Given the description of an element on the screen output the (x, y) to click on. 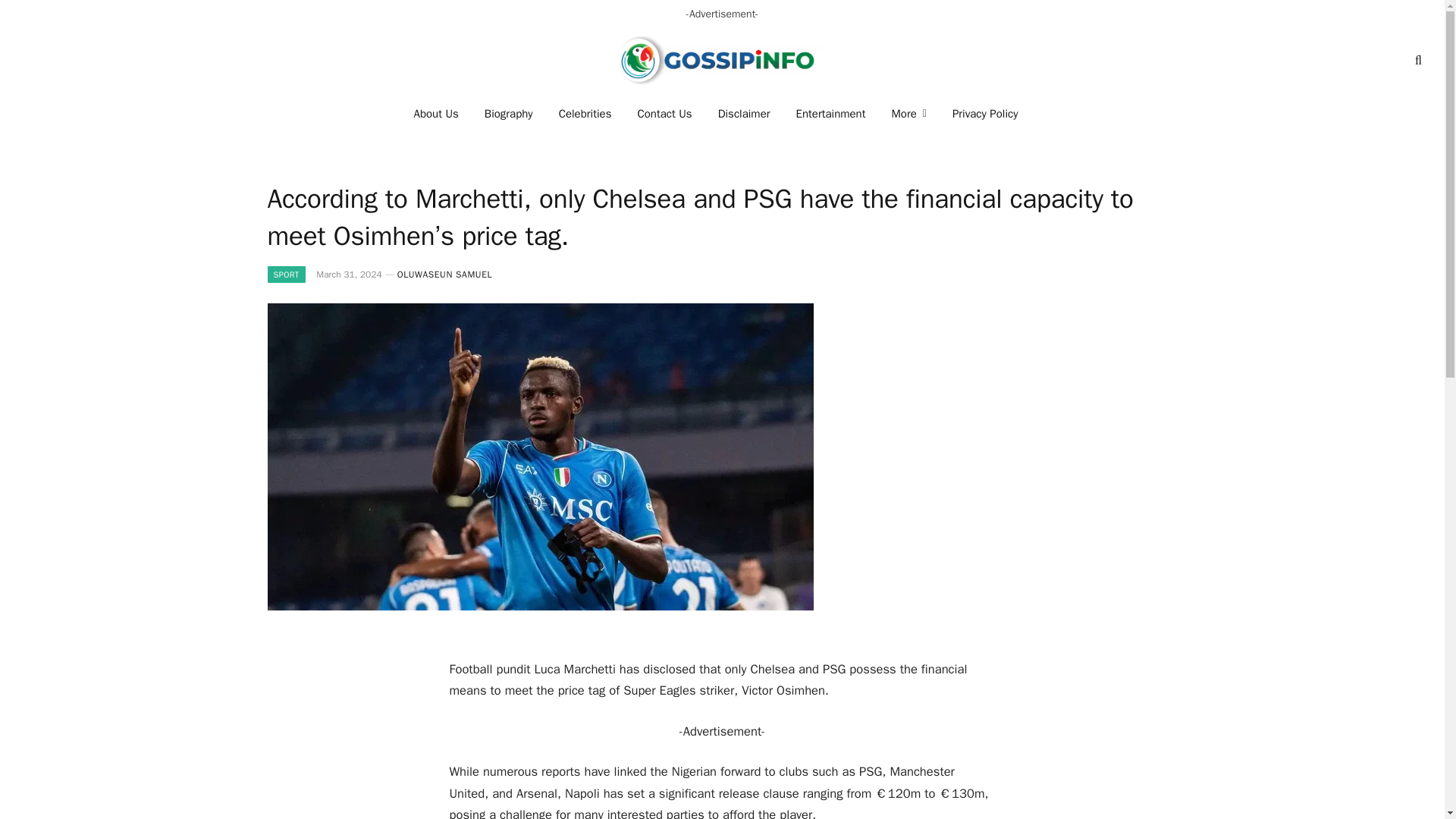
Contact Us (664, 113)
Gossipinfo (722, 59)
Privacy Policy (984, 113)
Disclaimer (743, 113)
Biography (508, 113)
More (908, 113)
Celebrities (585, 113)
Posts by Oluwaseun samuel (444, 274)
SPORT (285, 274)
About Us (436, 113)
OLUWASEUN SAMUEL (444, 274)
Entertainment (831, 113)
